Given the description of an element on the screen output the (x, y) to click on. 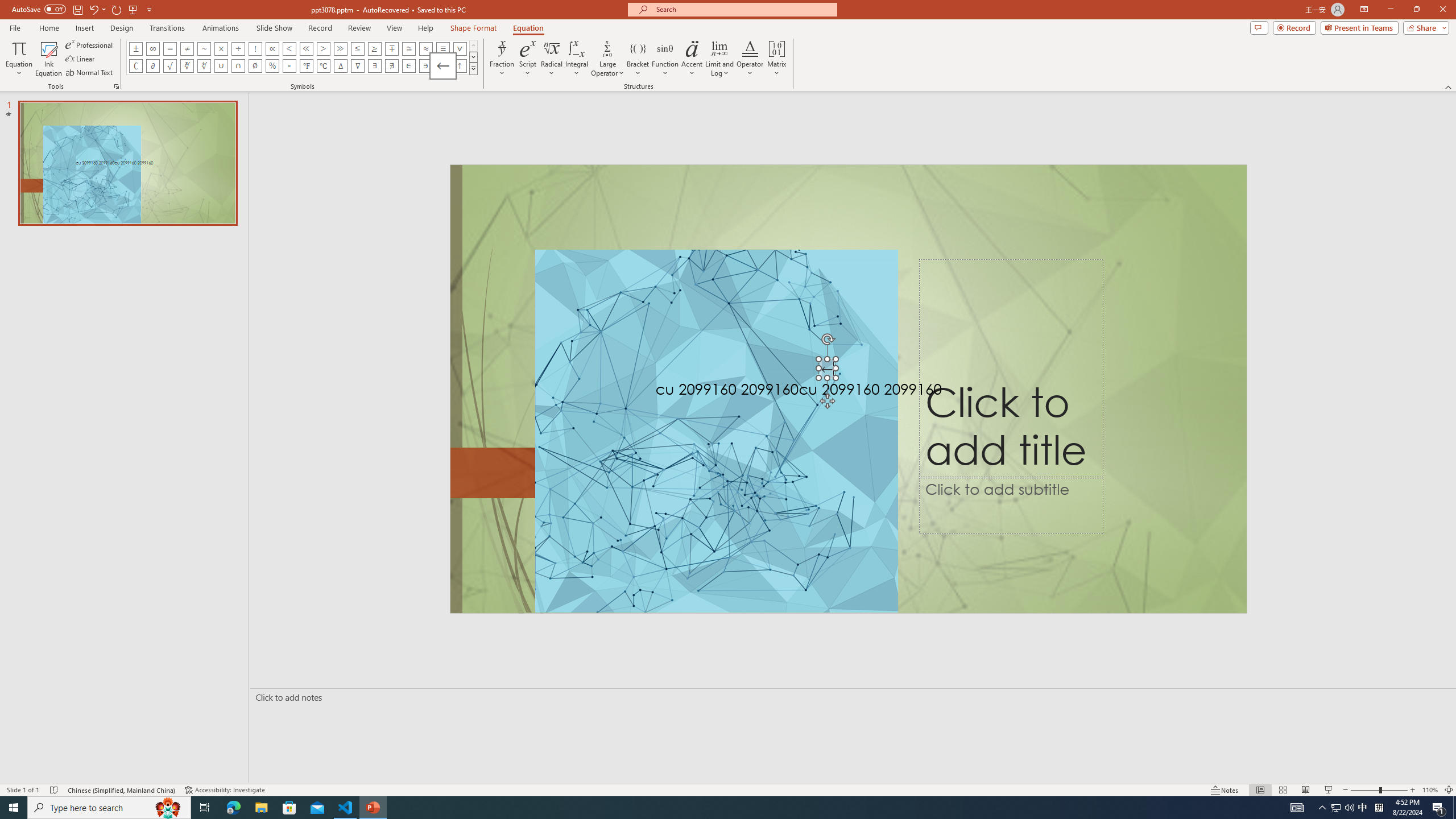
Equation Symbol Greater Than or Equal To (374, 48)
Equation Symbol Partial Differential (152, 65)
Equation Symbol Greater Than (322, 48)
Equation Symbol Union (221, 65)
Equation Symbol Less Than (289, 48)
Equation Symbol Radical Sign (170, 65)
Equation Symbol Degrees Fahrenheit (306, 65)
Equation Symbol Not Equal To (187, 48)
